Given the description of an element on the screen output the (x, y) to click on. 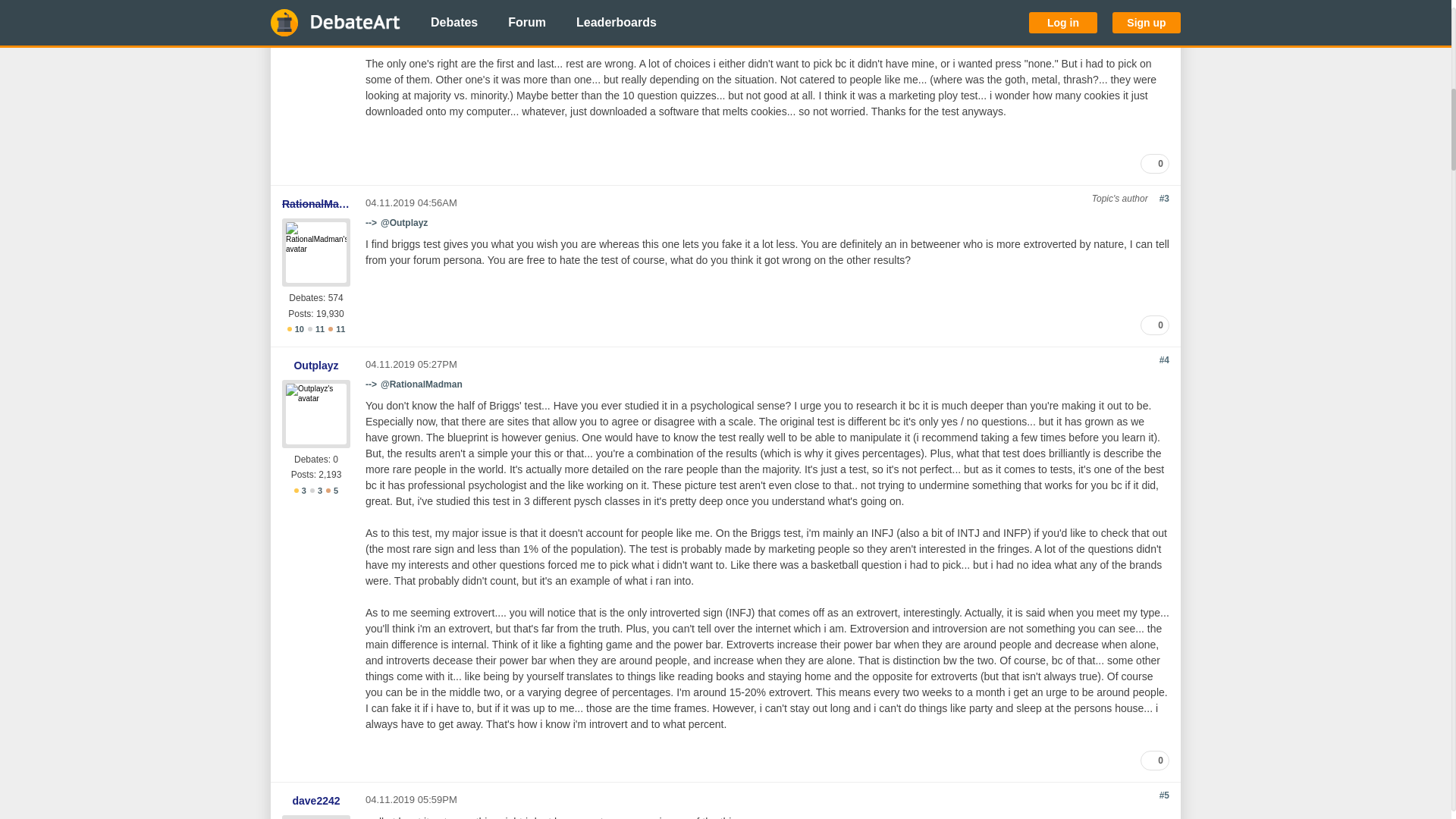
0 (1154, 324)
RationalMadman (316, 203)
0 (1154, 163)
